Given the description of an element on the screen output the (x, y) to click on. 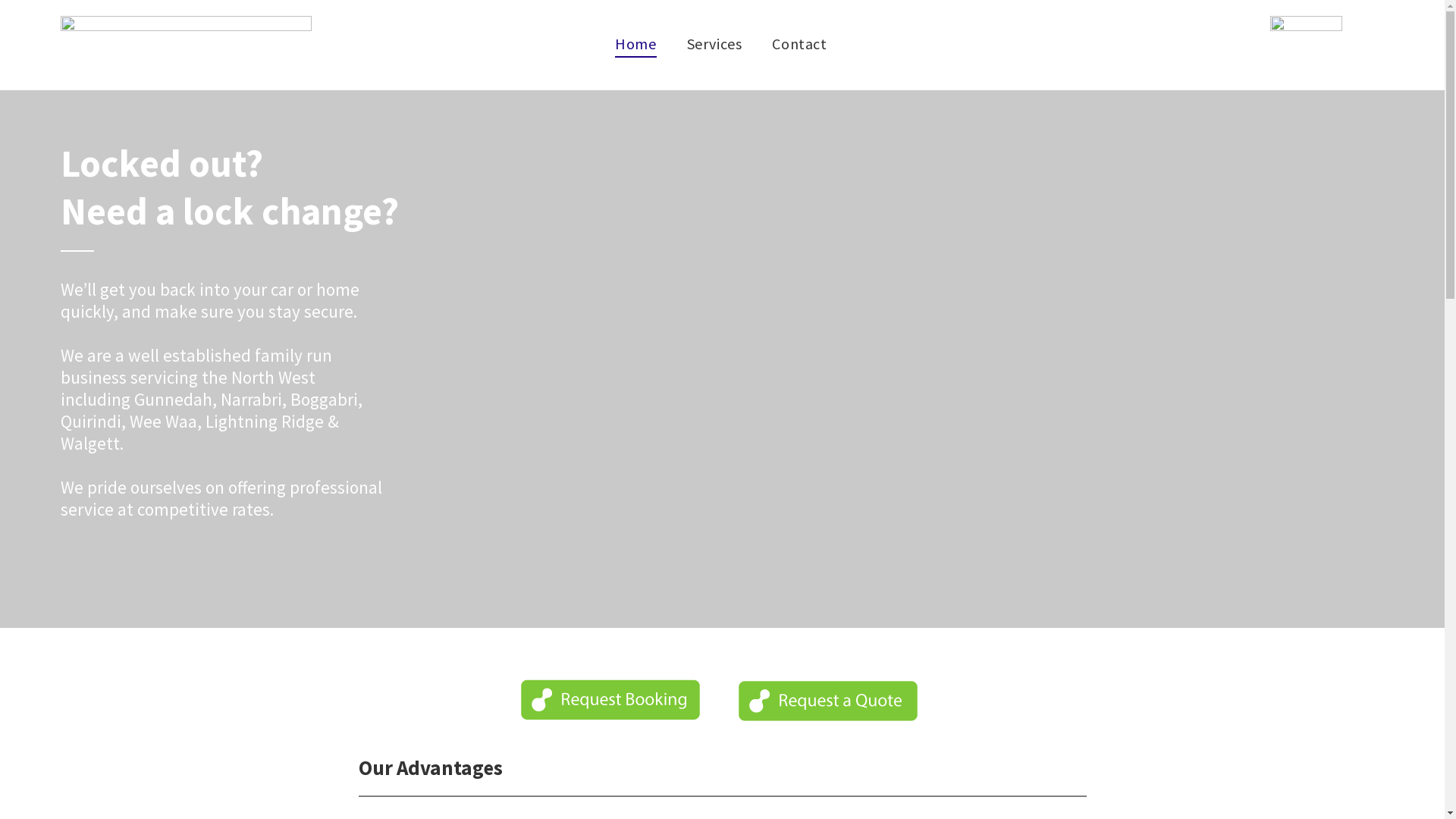
Home Element type: text (635, 43)
Contact Element type: text (798, 43)
Services Element type: text (714, 43)
